Given the description of an element on the screen output the (x, y) to click on. 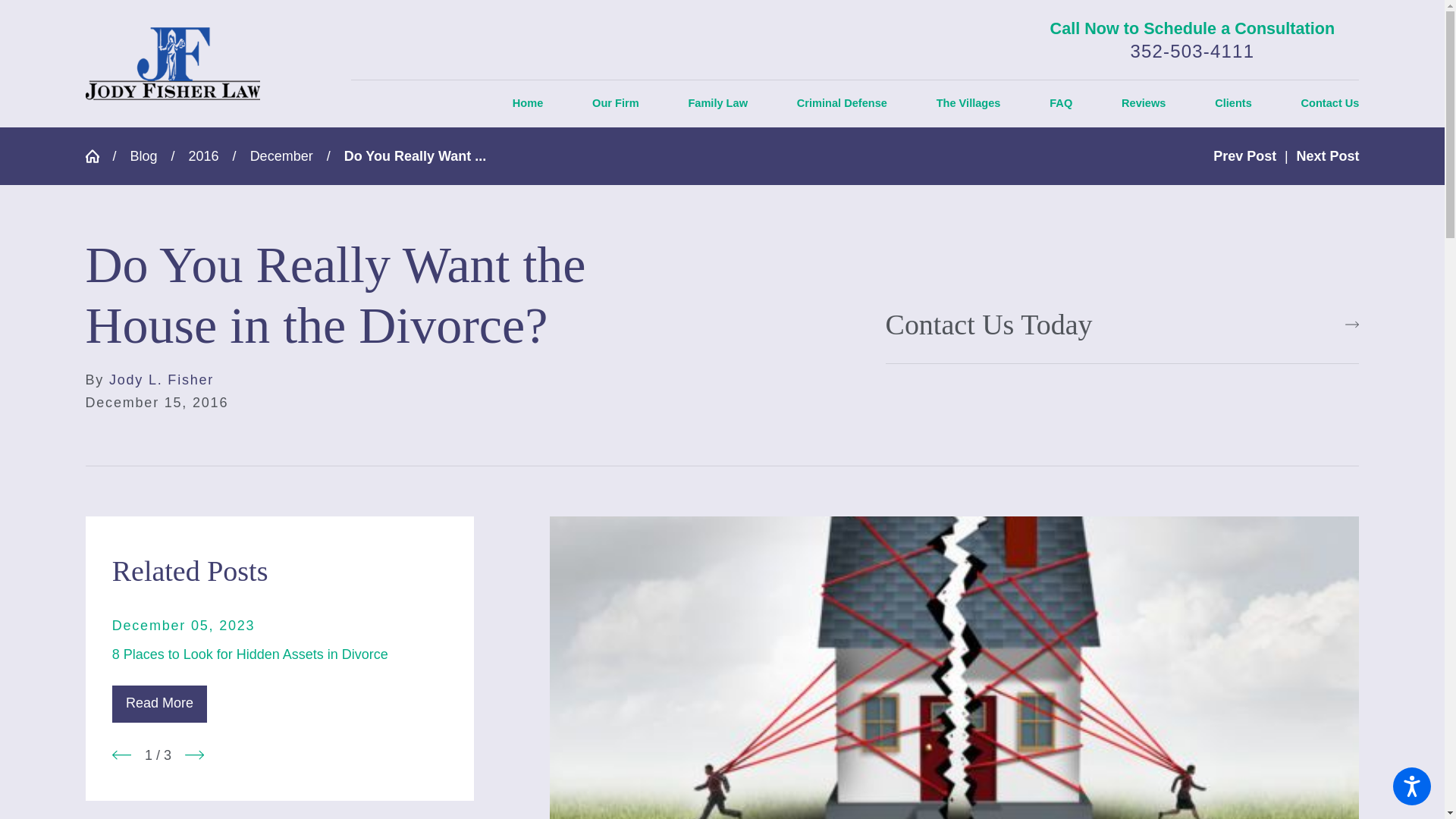
352-503-4111 (1192, 51)
Law Office of Jody L. Fisher (171, 63)
View previous item (121, 754)
Criminal Defense (841, 103)
Open the accessibility options menu (1412, 786)
Go Home (98, 155)
Family Law (717, 103)
Our Firm (615, 103)
View next item (193, 754)
